Given the description of an element on the screen output the (x, y) to click on. 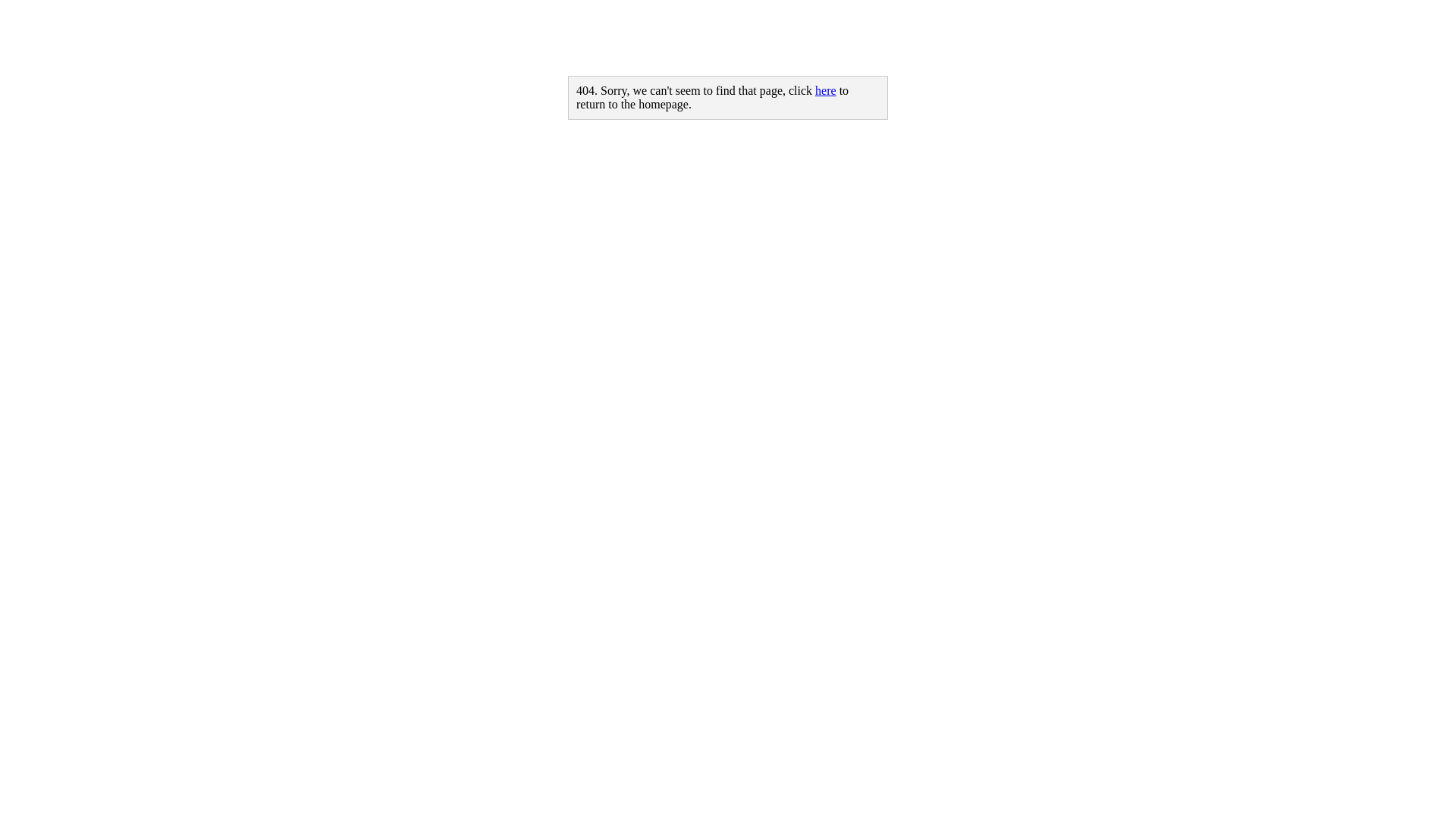
here Element type: text (825, 90)
